Given the description of an element on the screen output the (x, y) to click on. 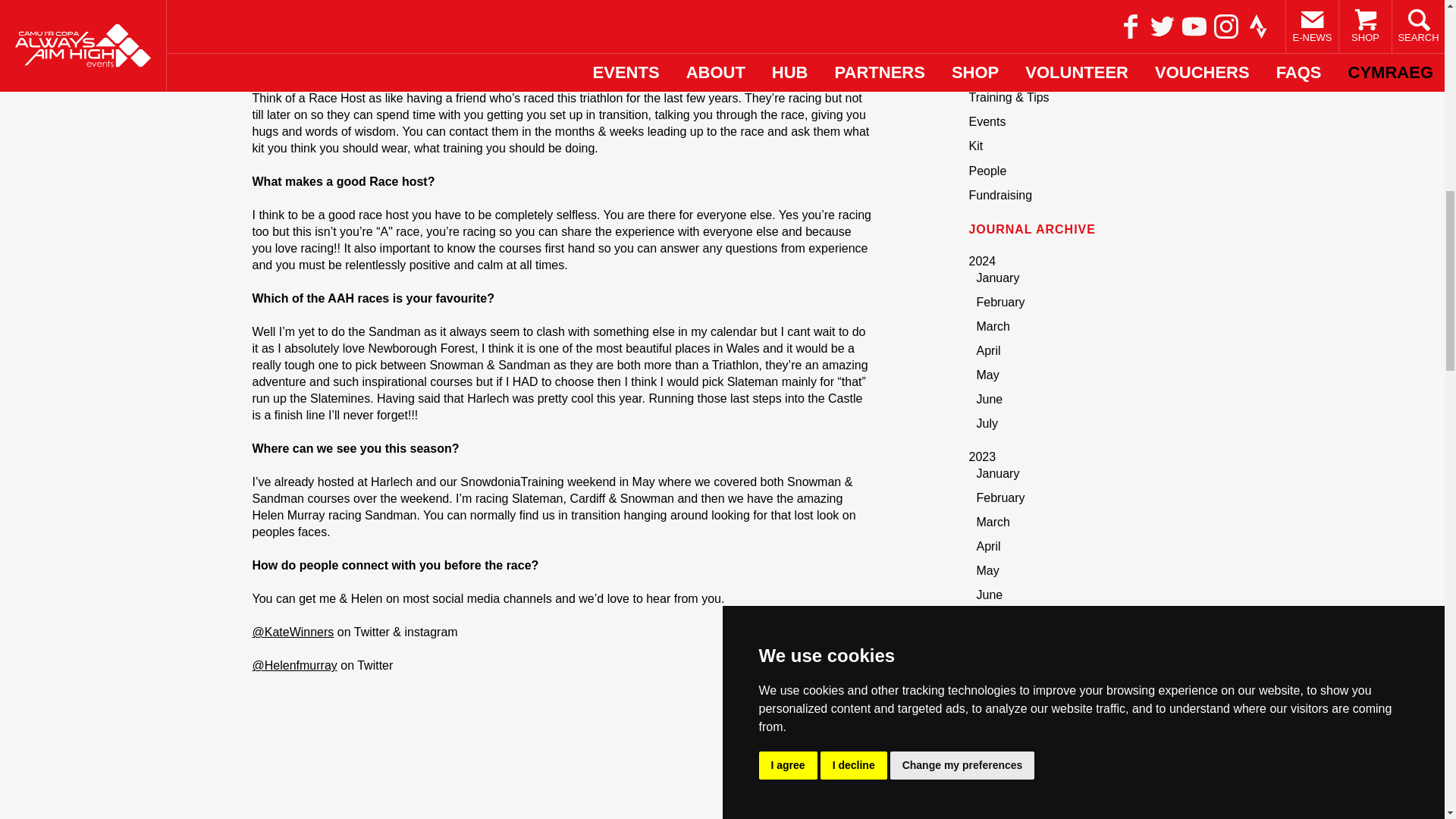
2024 (982, 260)
March (993, 326)
People (988, 170)
February (1000, 301)
Events (987, 121)
April (988, 350)
June (989, 399)
January (998, 277)
Fundraising (1000, 195)
Kit (976, 145)
May (987, 374)
